Given the description of an element on the screen output the (x, y) to click on. 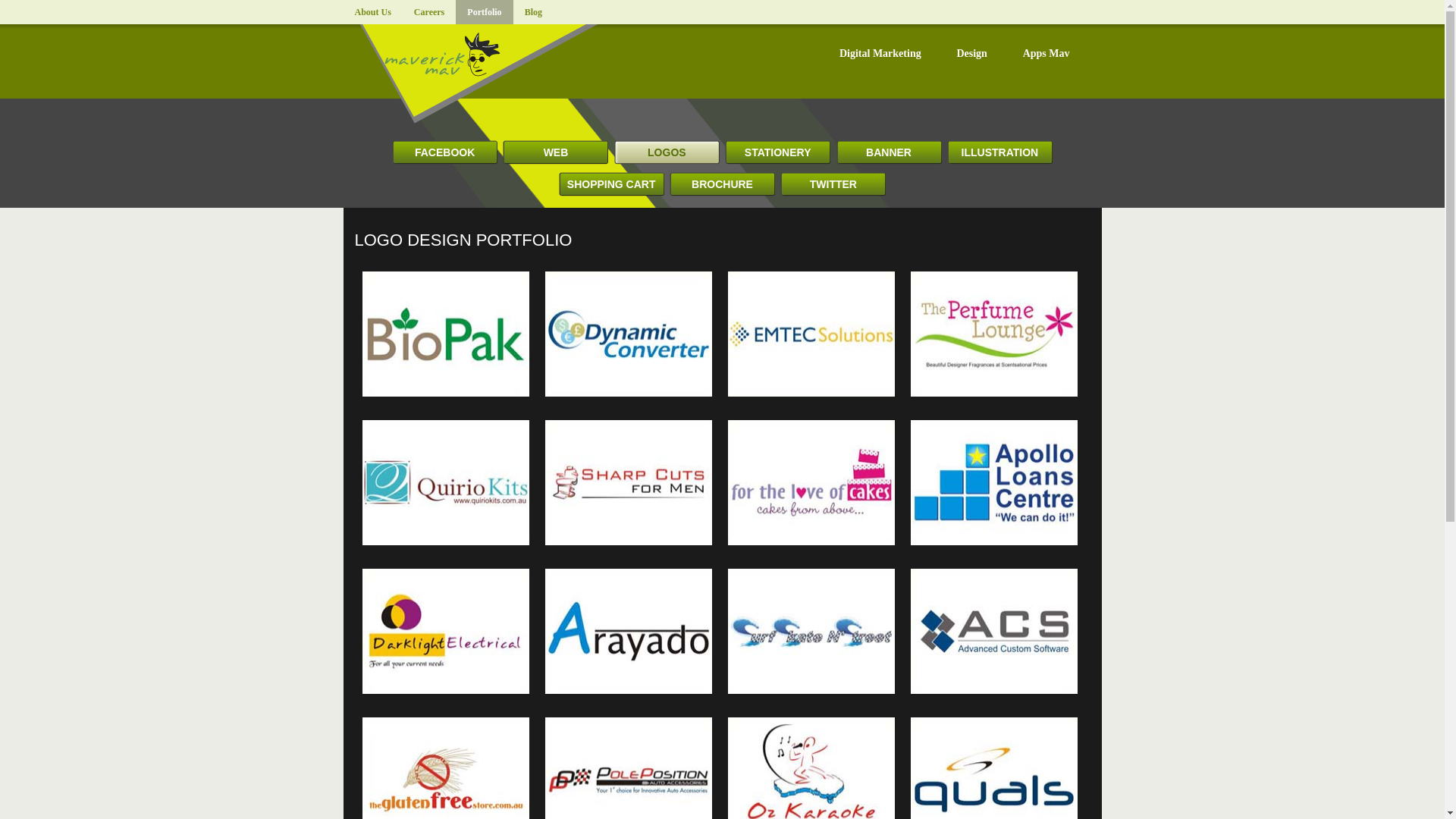
Blog (533, 12)
SHOPPING CART (611, 183)
BANNER (888, 152)
Portfolio (483, 12)
FACEBOOK (444, 152)
Apps Mav (1061, 53)
Digital Marketing (895, 53)
LOGOS (666, 152)
WEB (555, 152)
TWITTER (832, 183)
ILLUSTRATION (999, 152)
BROCHURE (721, 183)
About Us (371, 12)
Careers (429, 12)
Design (986, 53)
